Given the description of an element on the screen output the (x, y) to click on. 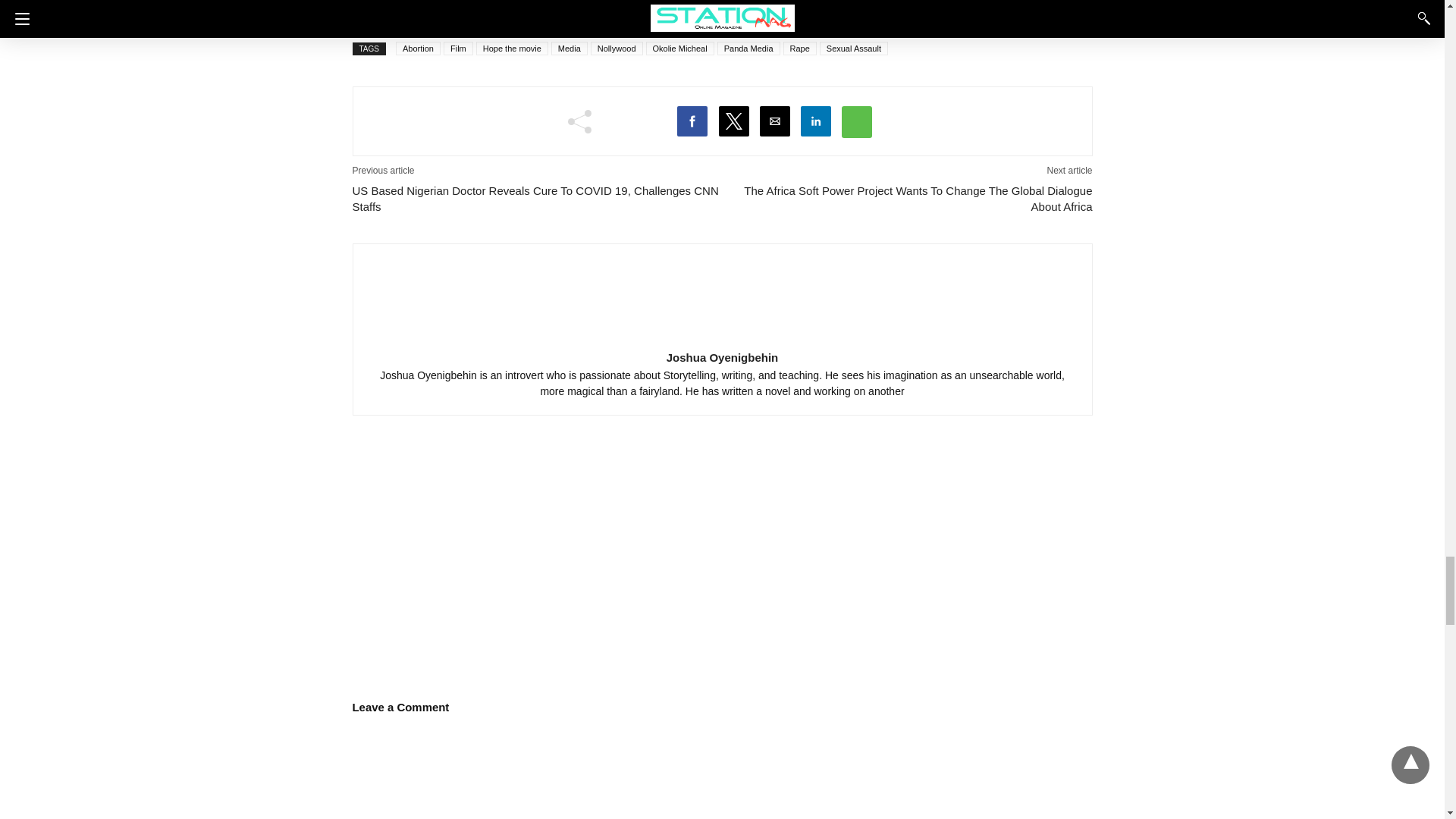
Abortion (418, 48)
Okolie Micheal (680, 48)
Film (458, 48)
Media (569, 48)
Sexual Assault (853, 48)
Nollywood (617, 48)
Joshua Oyenigbehin (722, 357)
Panda Media (748, 48)
Rape (799, 48)
Hope the movie (512, 48)
